Given the description of an element on the screen output the (x, y) to click on. 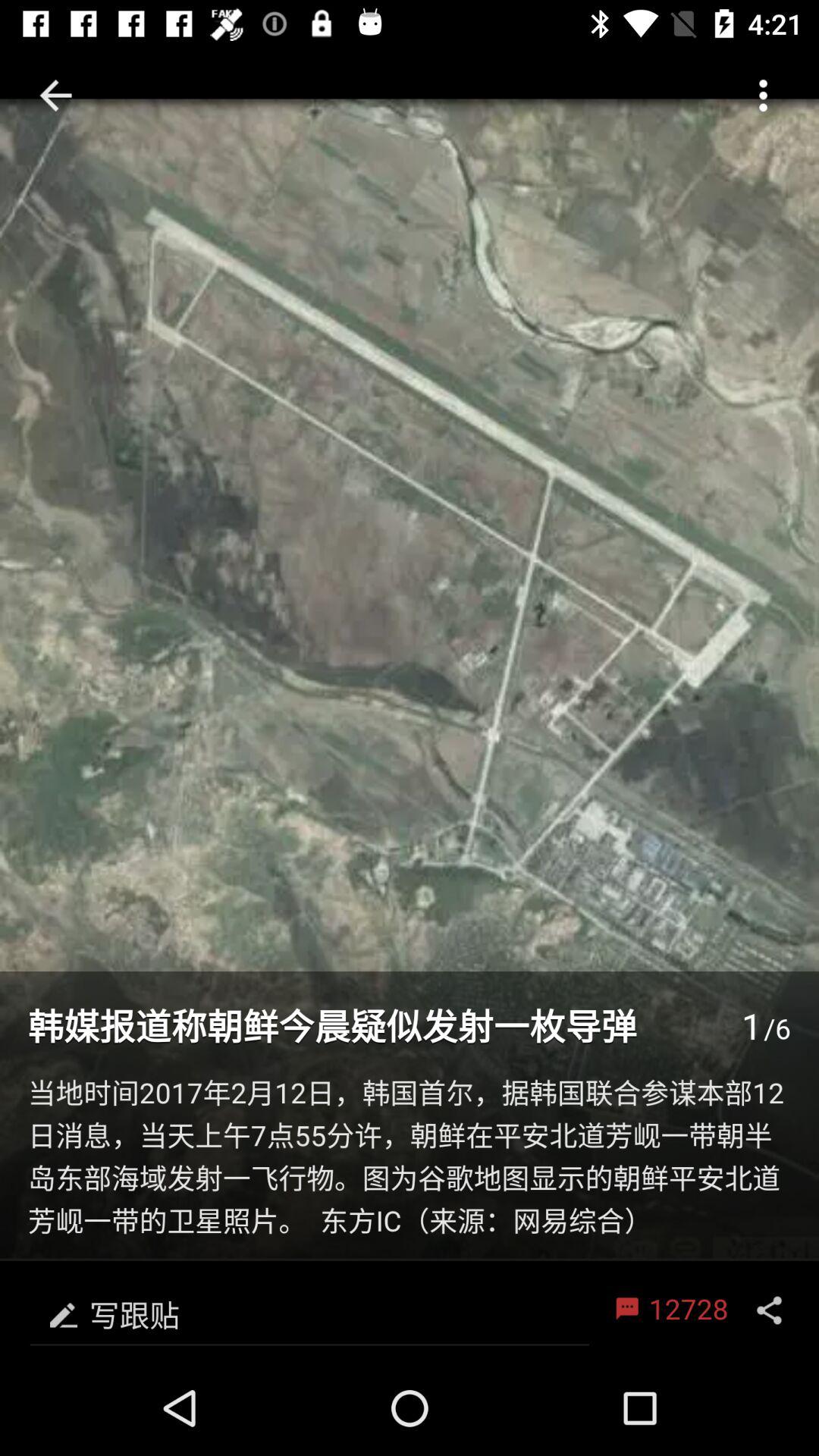
display menu options (768, 1310)
